Given the description of an element on the screen output the (x, y) to click on. 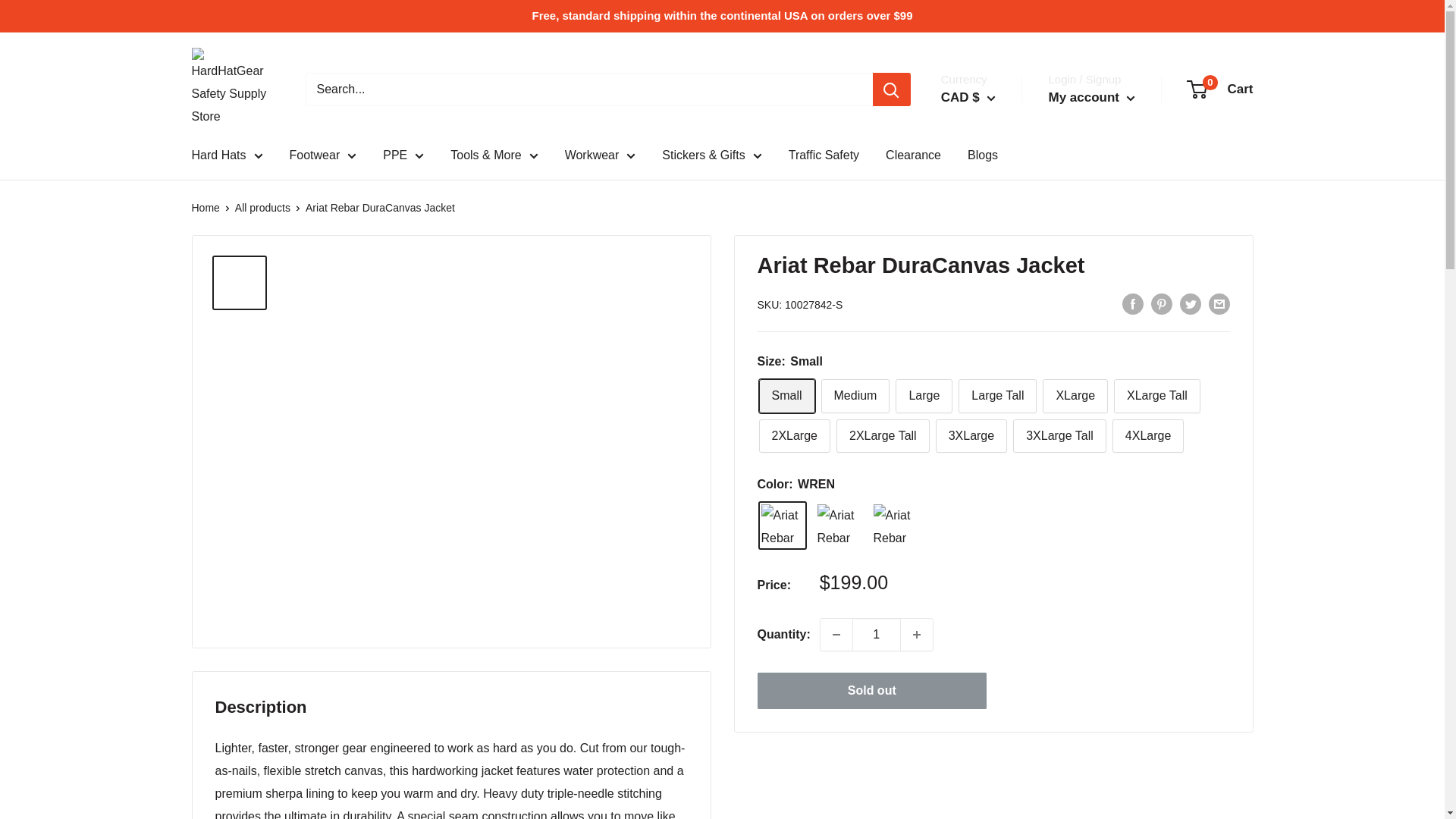
XLarge Tall (1156, 396)
Medium (855, 396)
2XLarge Tall (882, 436)
3XLarge Tall (1059, 436)
WREN (782, 525)
BLACK (894, 525)
4XLarge (1148, 436)
Decrease quantity by 1 (836, 634)
Increase quantity by 1 (917, 634)
Large (923, 396)
